Given the description of an element on the screen output the (x, y) to click on. 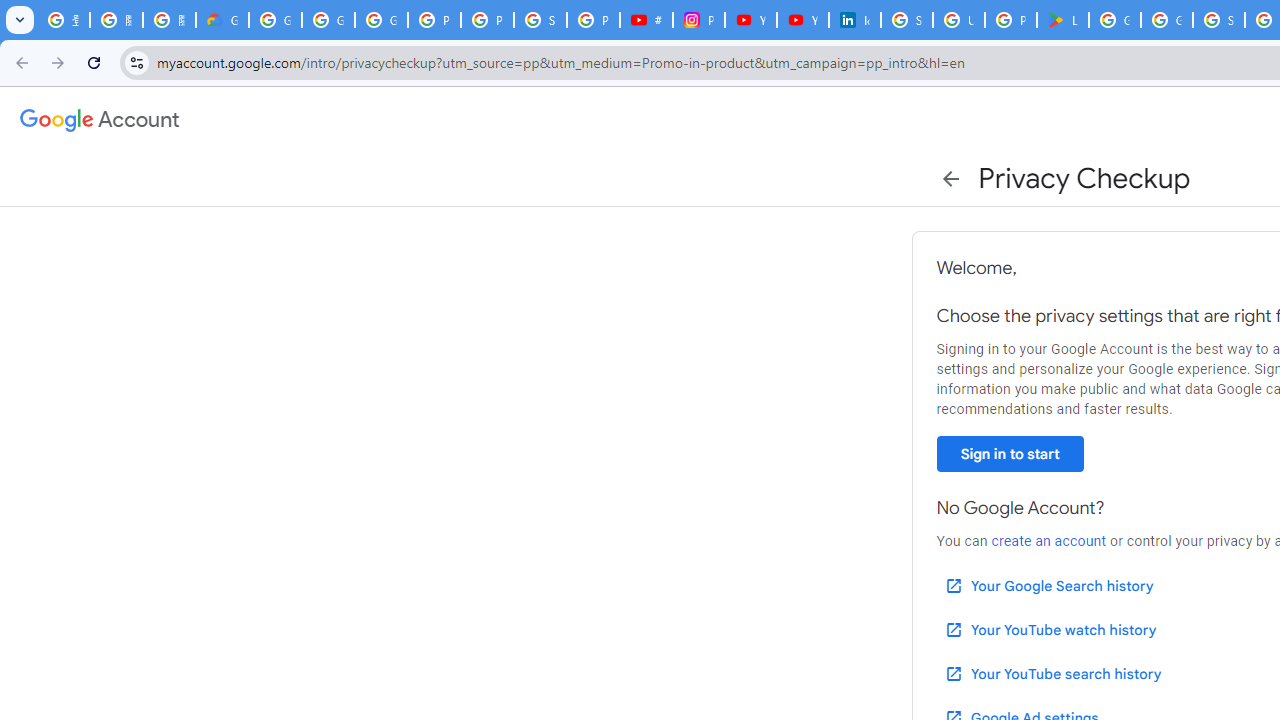
Your Google Search history (1048, 586)
create an account (1048, 541)
Your YouTube watch history (1049, 630)
Google Account settings (100, 120)
Privacy Help Center - Policies Help (487, 20)
